Given the description of an element on the screen output the (x, y) to click on. 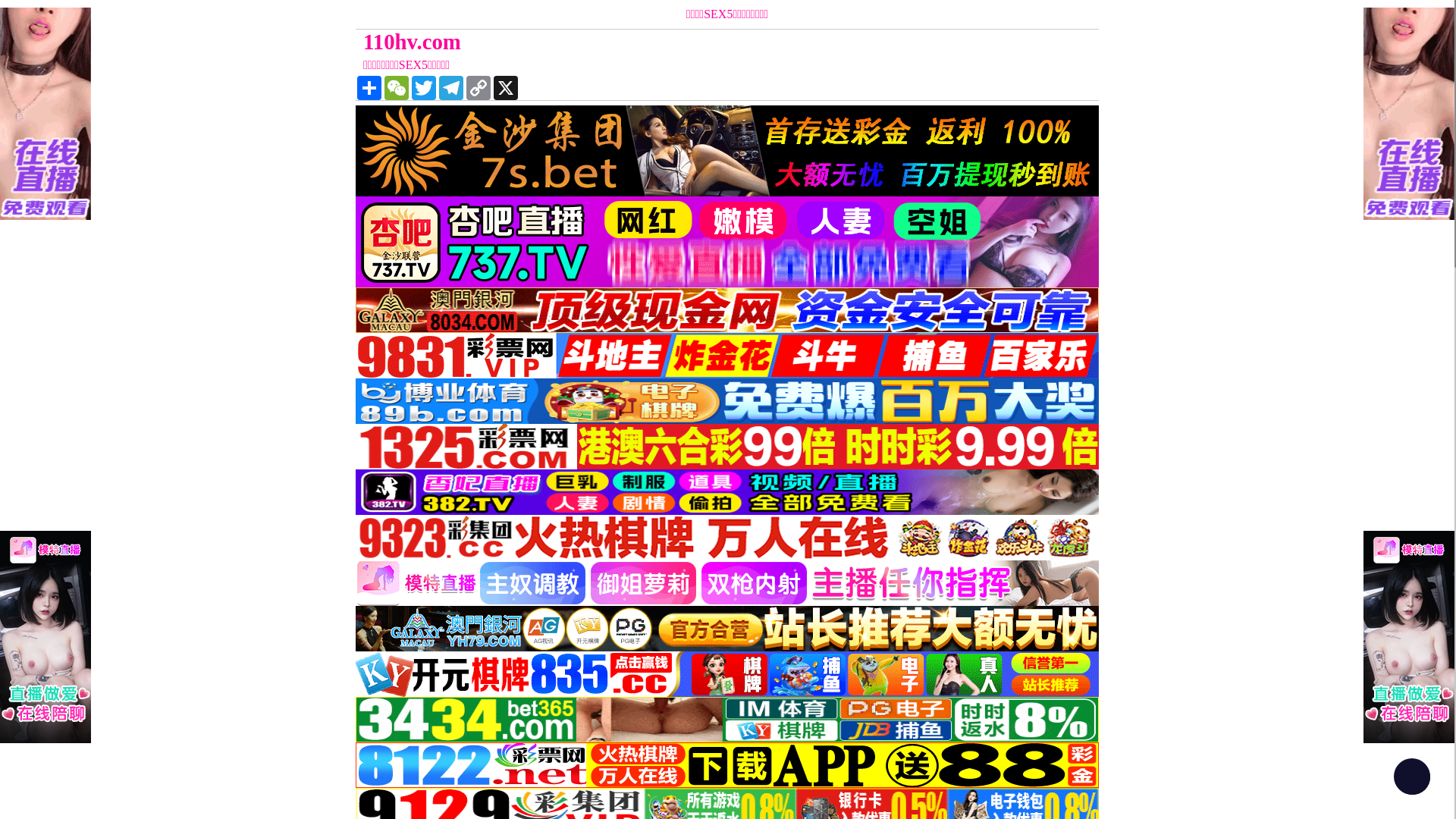
WeChat Element type: text (396, 87)
Twitter Element type: text (423, 87)
Telegram Element type: text (450, 87)
110hv.com Element type: text (634, 41)
Copy Link Element type: text (478, 87)
X Element type: text (505, 87)
